Given the description of an element on the screen output the (x, y) to click on. 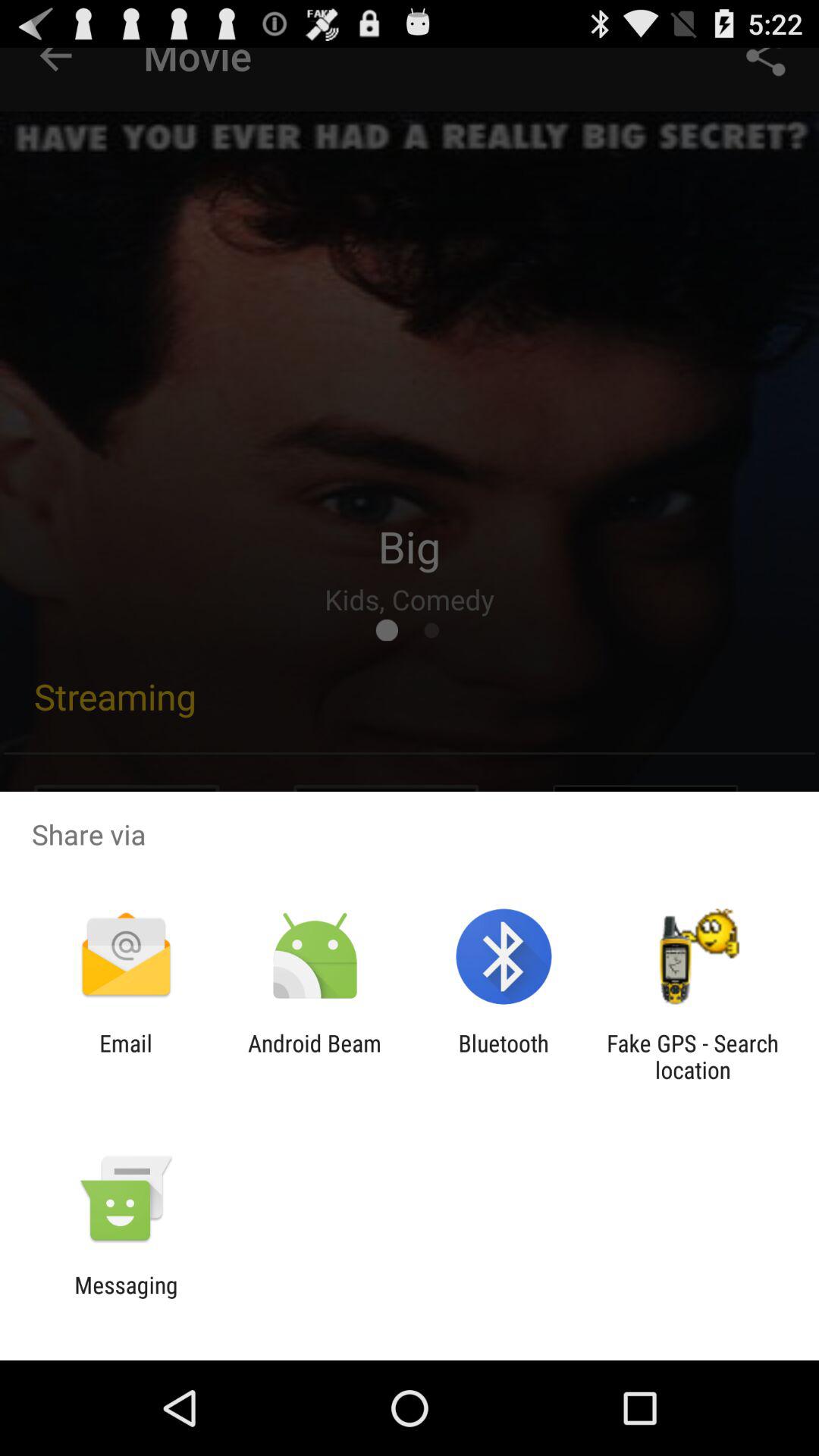
press the email icon (125, 1056)
